Given the description of an element on the screen output the (x, y) to click on. 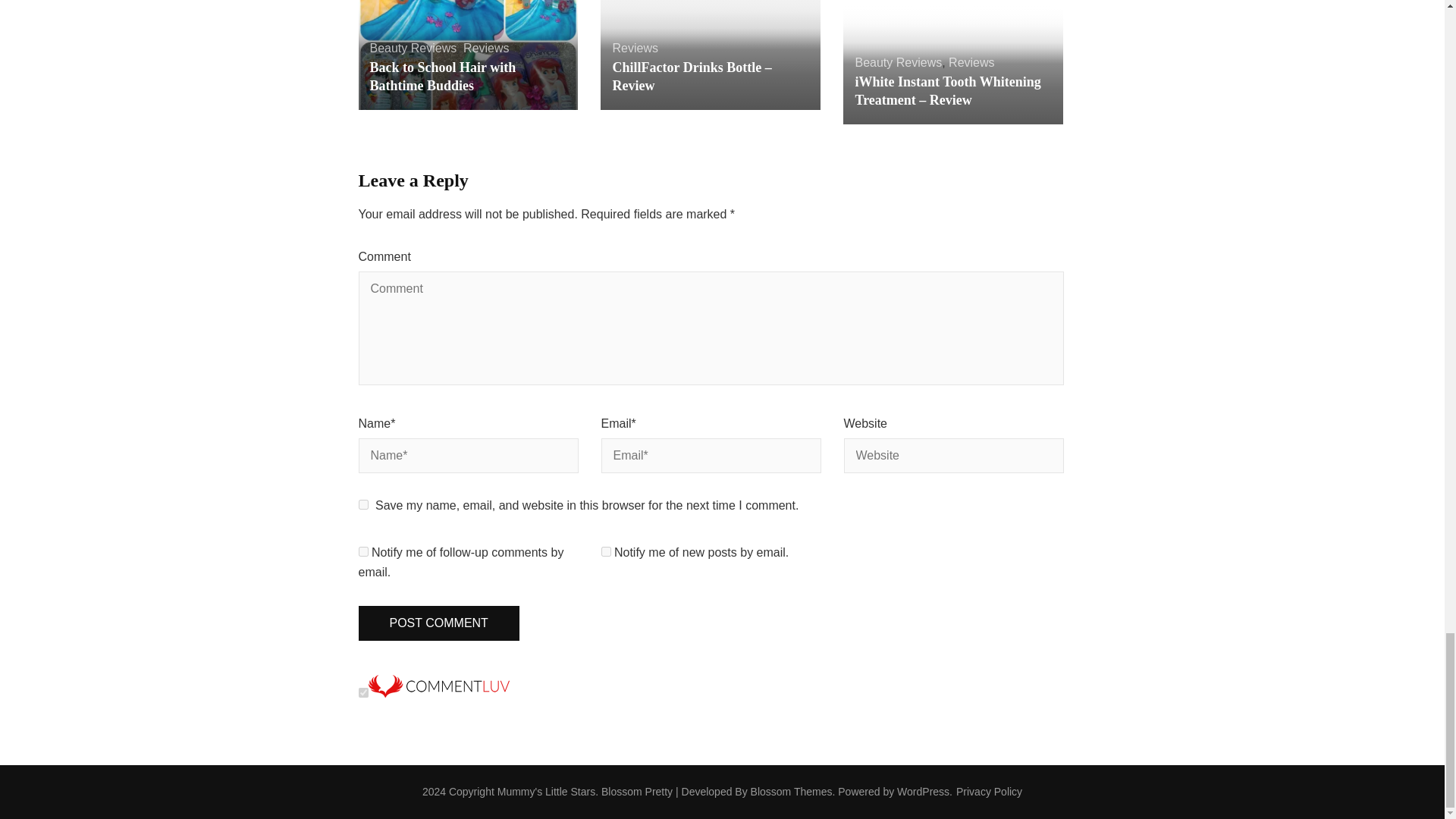
subscribe (363, 551)
Post Comment (438, 623)
on (363, 692)
Reviews (485, 47)
Beauty Reviews (413, 47)
CommentLuv is enabled (438, 693)
Back to School Hair with Bathtime Buddies (442, 76)
yes (363, 504)
subscribe (604, 551)
